Given the description of an element on the screen output the (x, y) to click on. 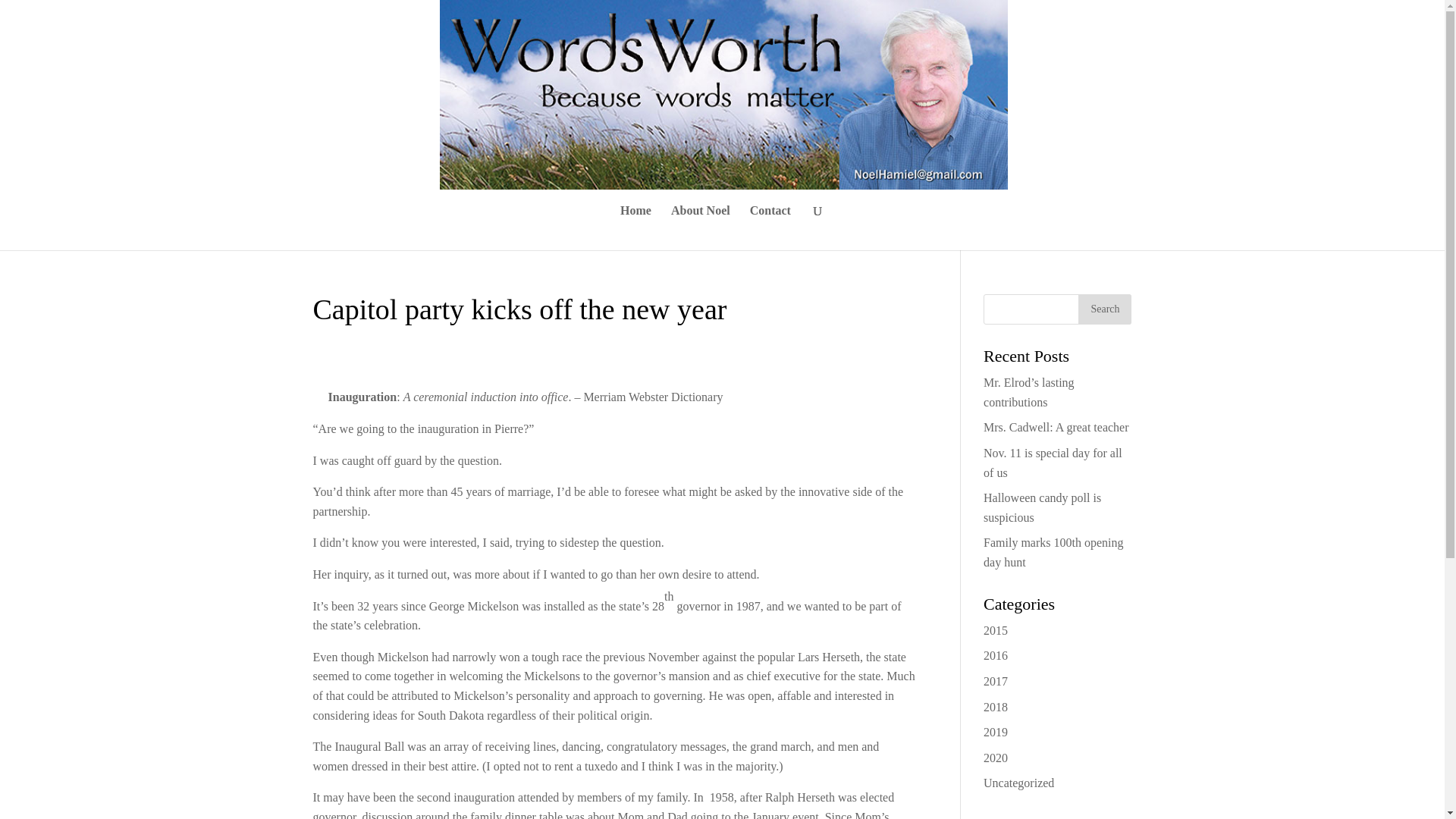
Search (1104, 309)
About Noel (700, 227)
Contact (769, 227)
2016 (995, 655)
Family marks 100th opening day hunt (1053, 552)
Uncategorized (1019, 782)
Mrs. Cadwell: A great teacher (1056, 427)
2015 (995, 630)
2020 (995, 757)
Search (1104, 309)
